Given the description of an element on the screen output the (x, y) to click on. 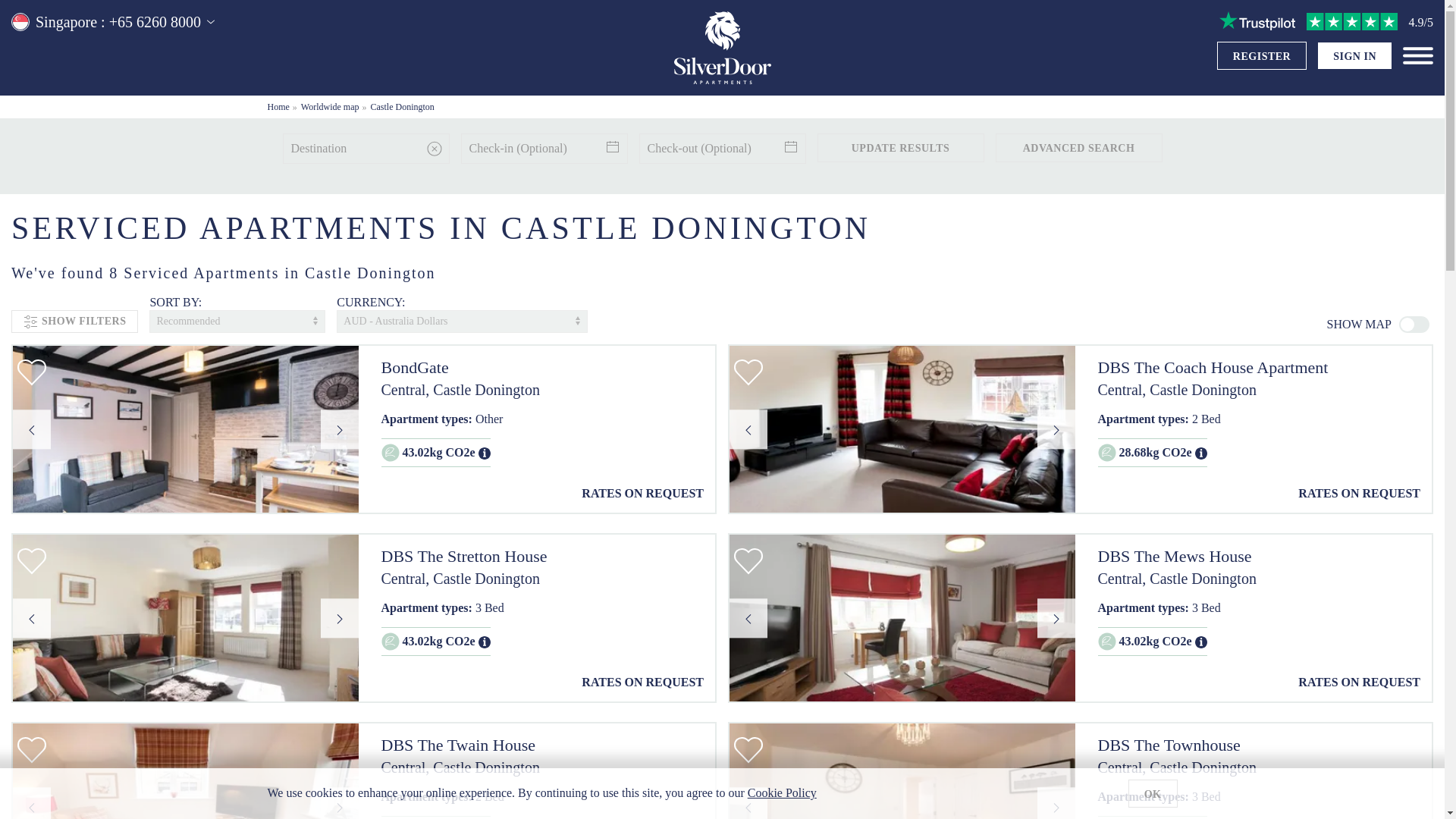
Update Results (900, 147)
Worldwide map (330, 106)
Update Results (900, 147)
SIGN IN (1354, 55)
DBS The Mews House (1259, 557)
DBS The Stretton House (541, 557)
REGISTER (1261, 55)
DBS The Coach House Apartment (1259, 368)
DBS The Townhouse (1259, 745)
Castle Donington (402, 106)
ADVANCED SEARCH (1077, 147)
BondGate (541, 368)
DBS The Twain House (541, 745)
Update Results (900, 147)
BondGate (541, 368)
